Given the description of an element on the screen output the (x, y) to click on. 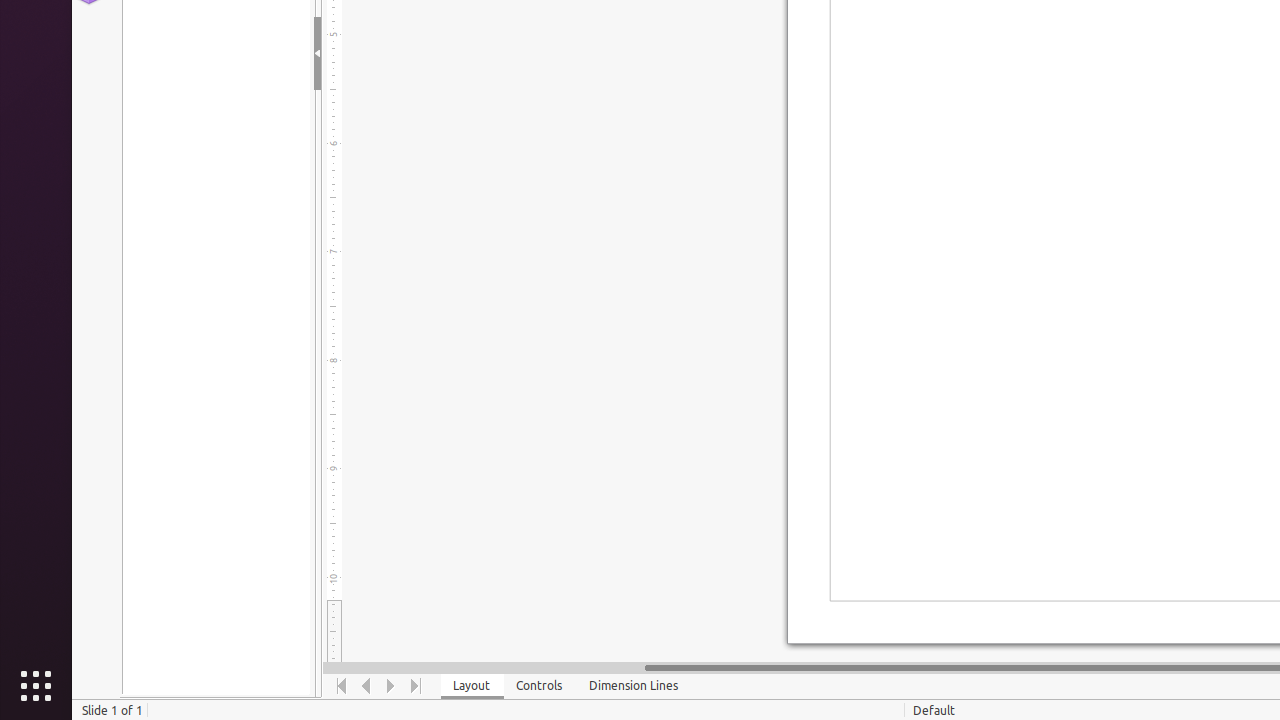
Controls Element type: page-tab (540, 686)
Move To End Element type: push-button (416, 686)
Dimension Lines Element type: page-tab (634, 686)
